Given the description of an element on the screen output the (x, y) to click on. 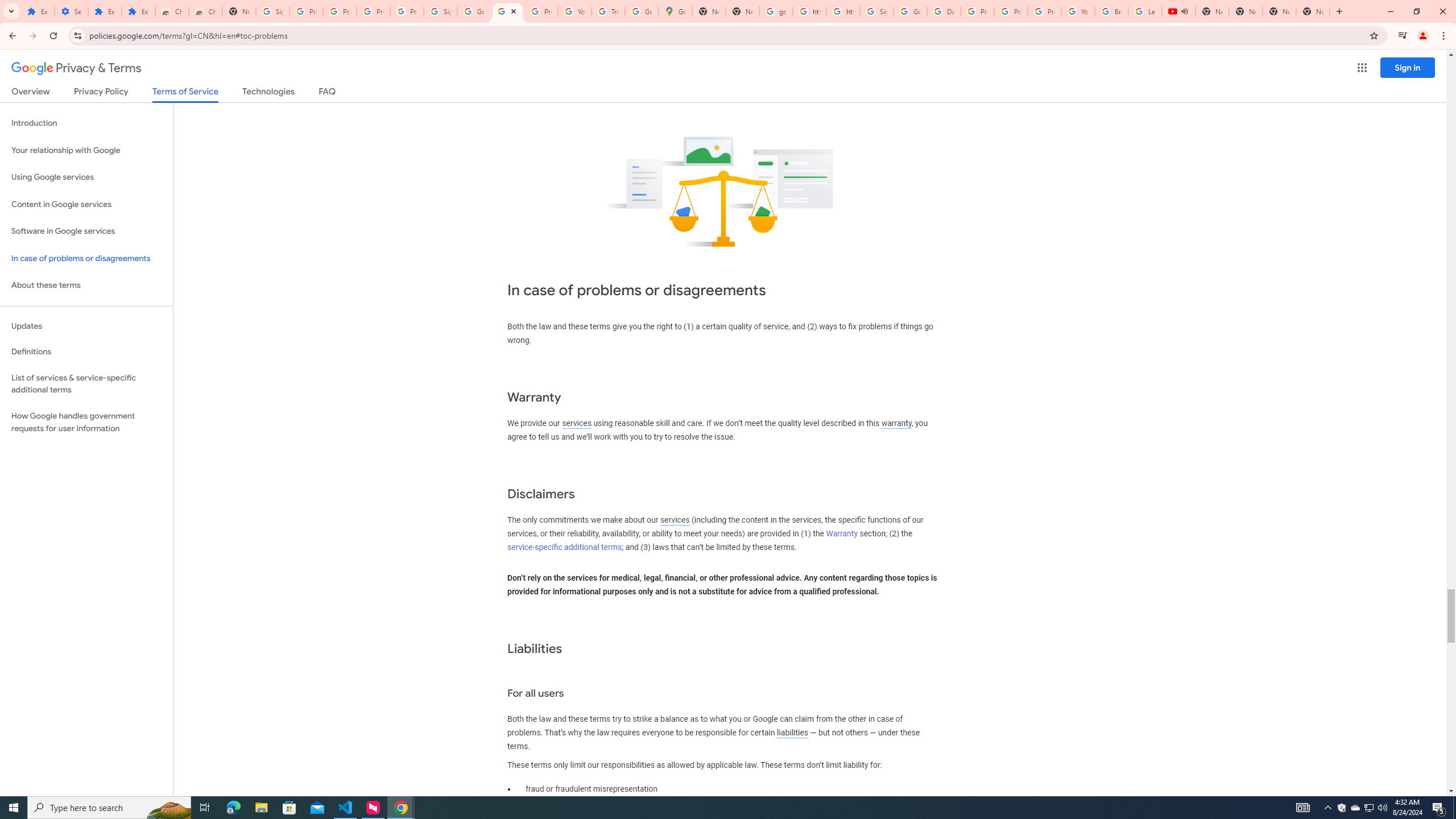
Your relationship with Google (86, 150)
